Given the description of an element on the screen output the (x, y) to click on. 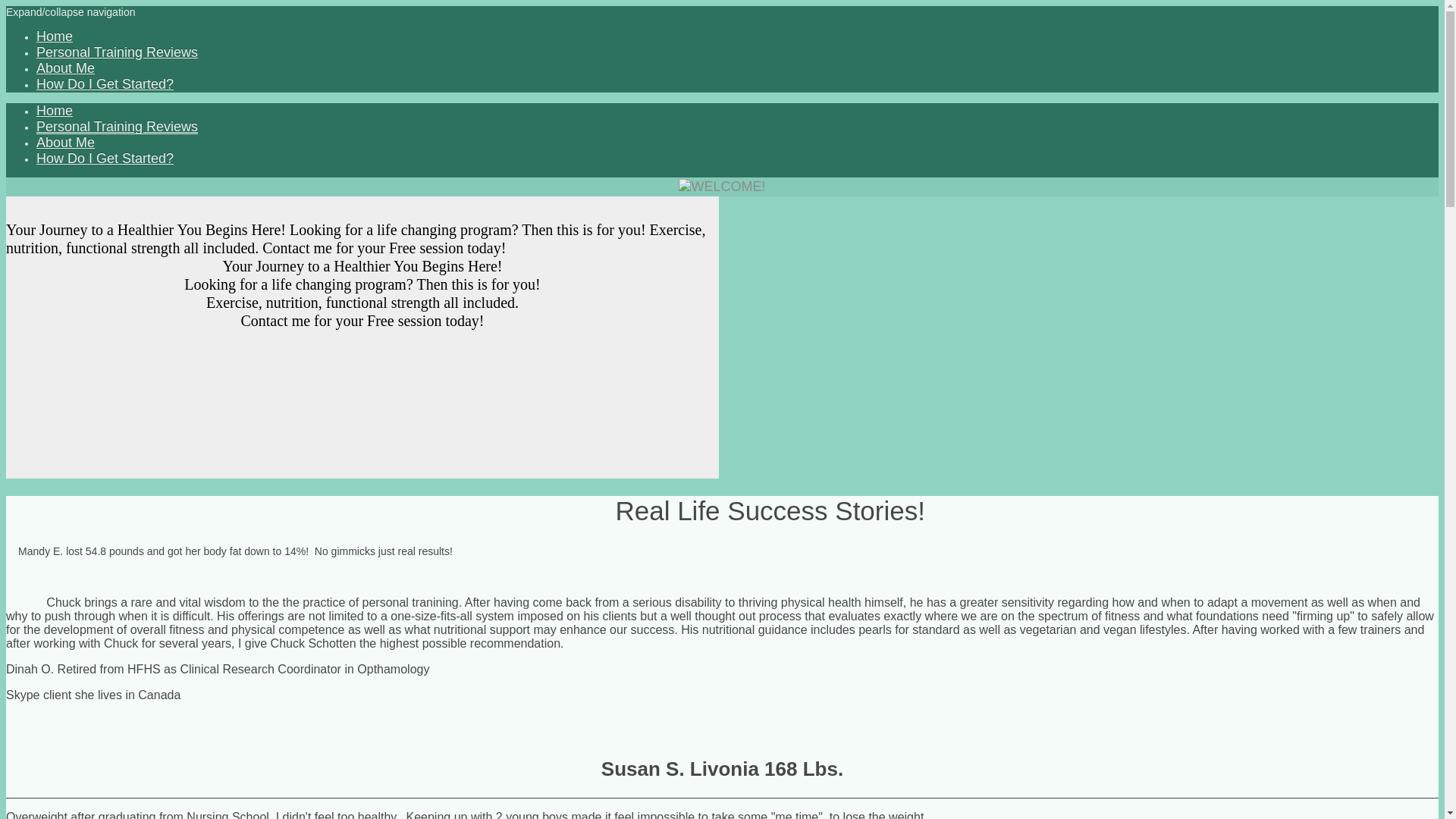
How Do I Get Started? Element type: text (104, 158)
Expand/collapse navigation Element type: text (70, 12)
Personal Training Reviews Element type: text (116, 51)
About Me Element type: text (65, 67)
About Me Element type: text (65, 142)
Personal Training Reviews Element type: text (116, 126)
Home Element type: text (54, 110)
How Do I Get Started? Element type: text (104, 83)
Home Element type: text (54, 35)
